Given the description of an element on the screen output the (x, y) to click on. 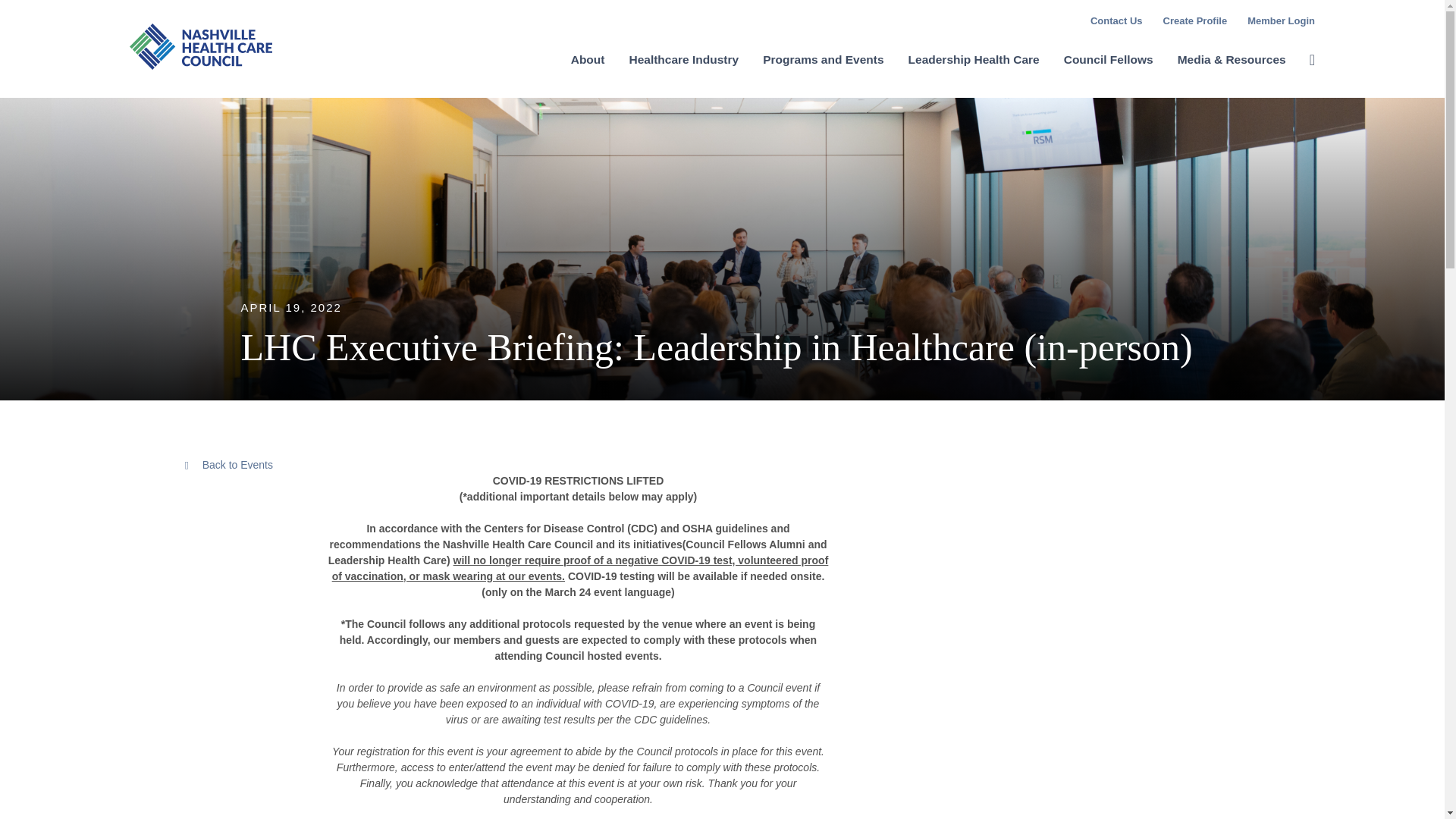
Create Profile (1195, 20)
Programs and Events (822, 70)
Member Login (1280, 20)
Council Fellows (1108, 70)
Leadership Health Care (973, 70)
Contact Us (1116, 20)
Healthcare Industry (683, 70)
About (587, 70)
